Given the description of an element on the screen output the (x, y) to click on. 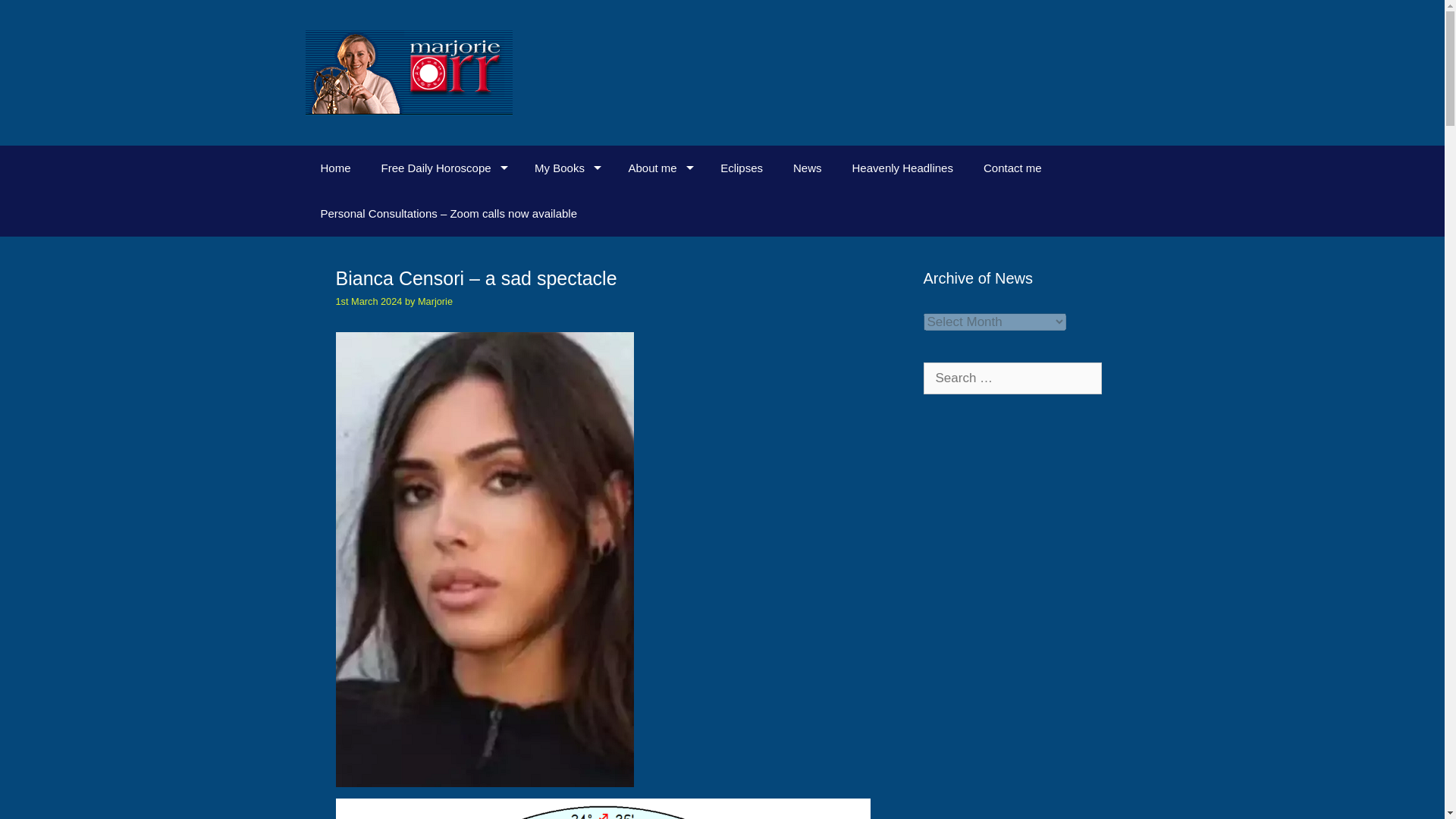
Heavenly Headlines (902, 167)
3:09 pm (367, 301)
1st March 2024 (367, 301)
About me (658, 167)
Search for: (1012, 377)
Eclipses (740, 167)
Free Daily Horoscope (442, 167)
Home (334, 167)
News (807, 167)
My Books (565, 167)
